Given the description of an element on the screen output the (x, y) to click on. 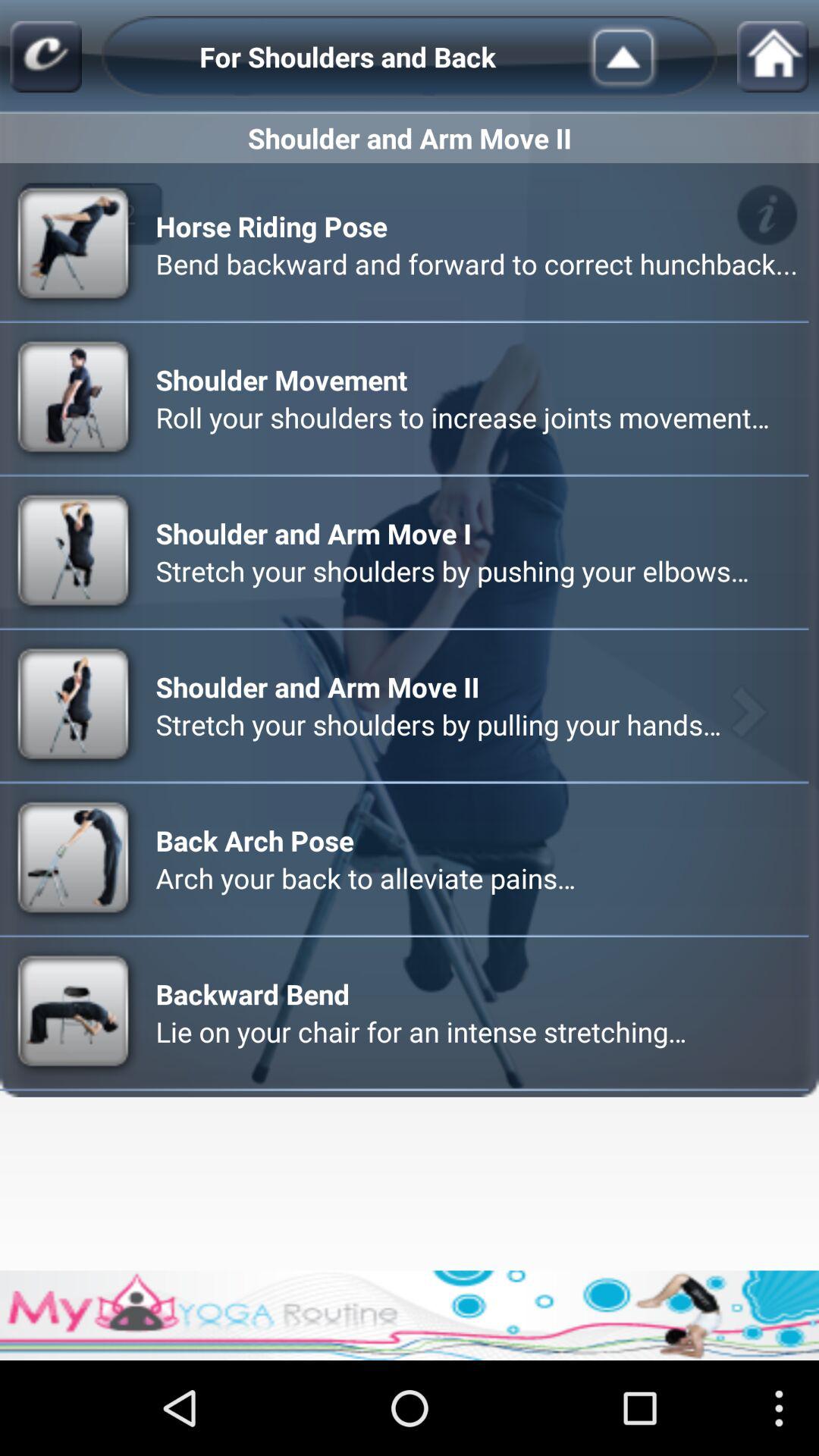
click on the image option to the left of back arch pose (75, 859)
select a second icon which is before shoulder movement on a page (75, 398)
select the image beside text backward bend (75, 1012)
